Given the description of an element on the screen output the (x, y) to click on. 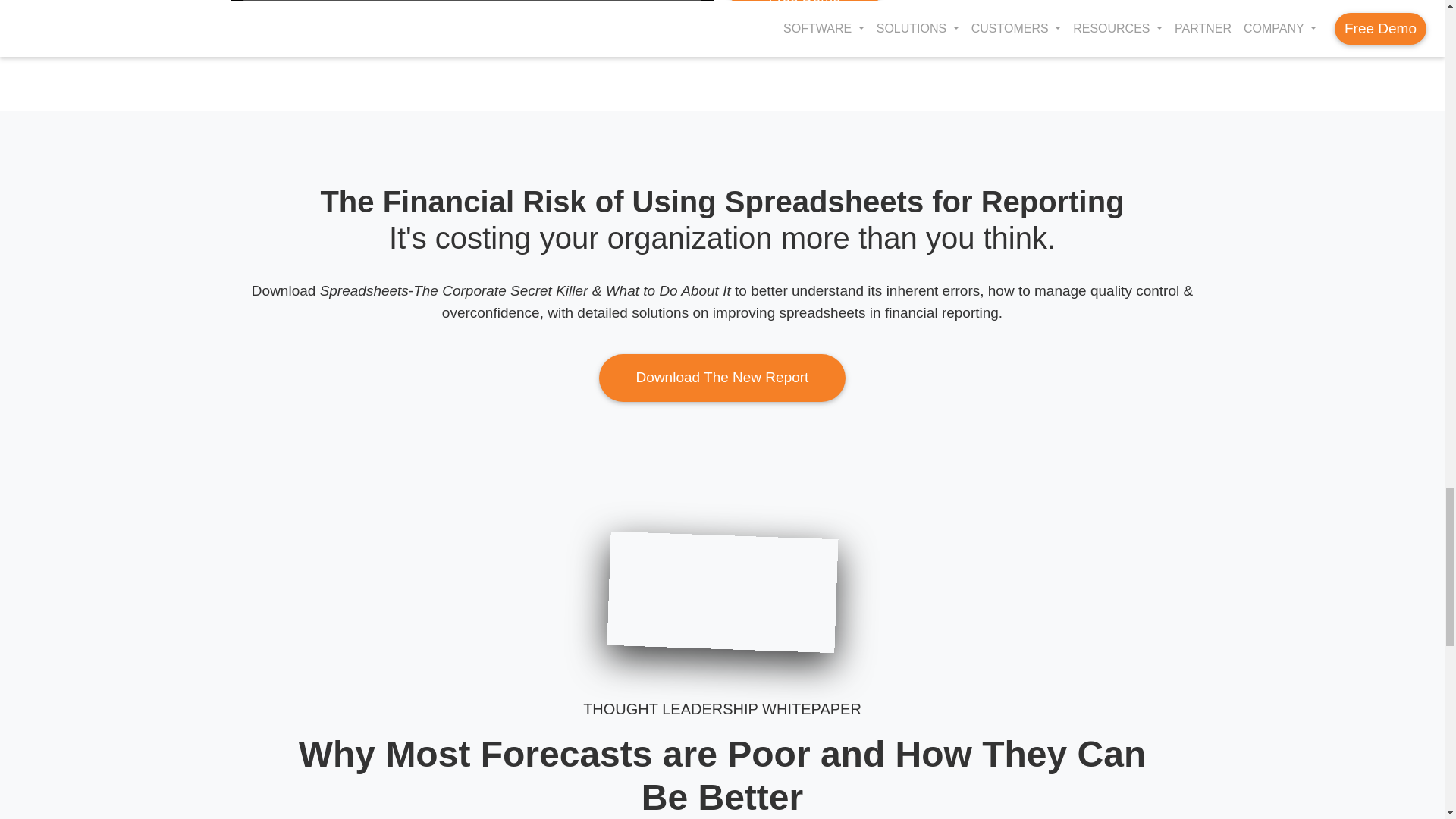
Free Demo (803, 10)
Download The New Report (721, 377)
